Given the description of an element on the screen output the (x, y) to click on. 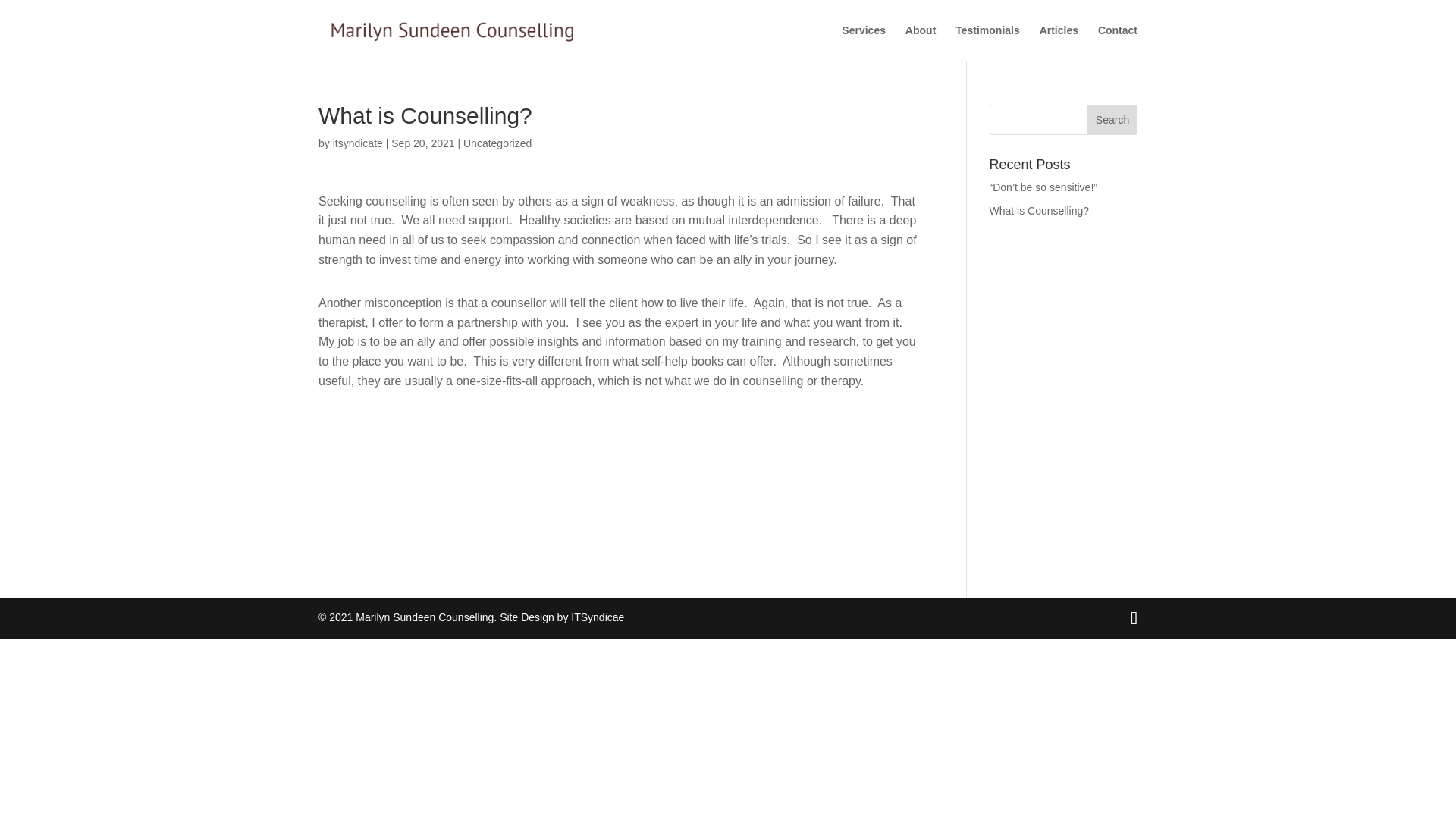
What is Counselling? (1039, 210)
Articles (1058, 42)
itsyndicate (357, 143)
Search (1112, 119)
Testimonials (987, 42)
Search (1112, 119)
Contact (1117, 42)
Services (863, 42)
Posts by itsyndicate (357, 143)
Uncategorized (497, 143)
